Given the description of an element on the screen output the (x, y) to click on. 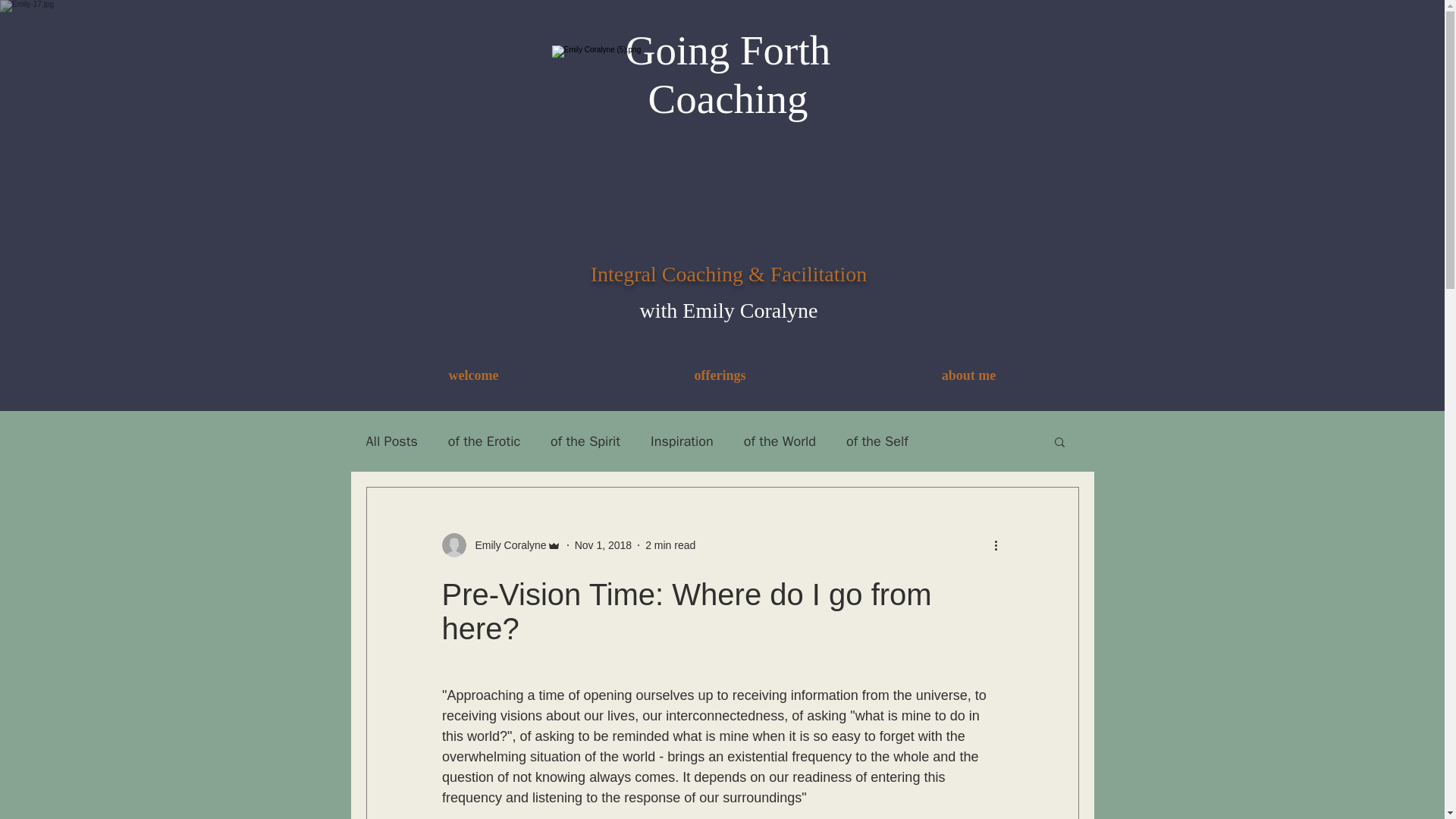
of the Self (876, 441)
of the Erotic (483, 441)
Nov 1, 2018 (603, 544)
welcome (472, 374)
of the World (779, 441)
Emily Coralyne (500, 545)
about me (968, 374)
Emily Coralyne (505, 545)
All Posts (390, 441)
2 min read (670, 544)
